Given the description of an element on the screen output the (x, y) to click on. 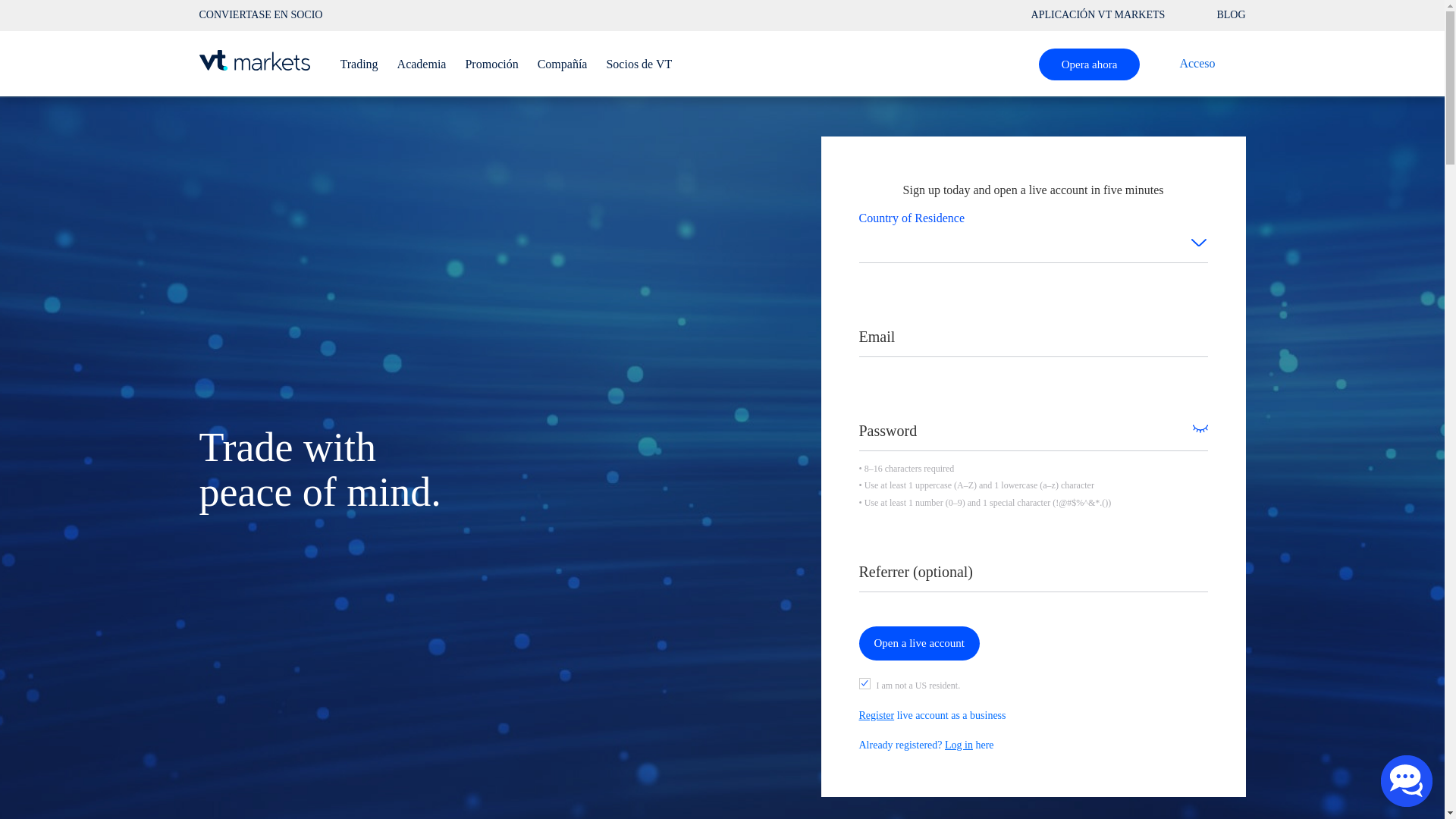
VT Markets (1229, 15)
